Given the description of an element on the screen output the (x, y) to click on. 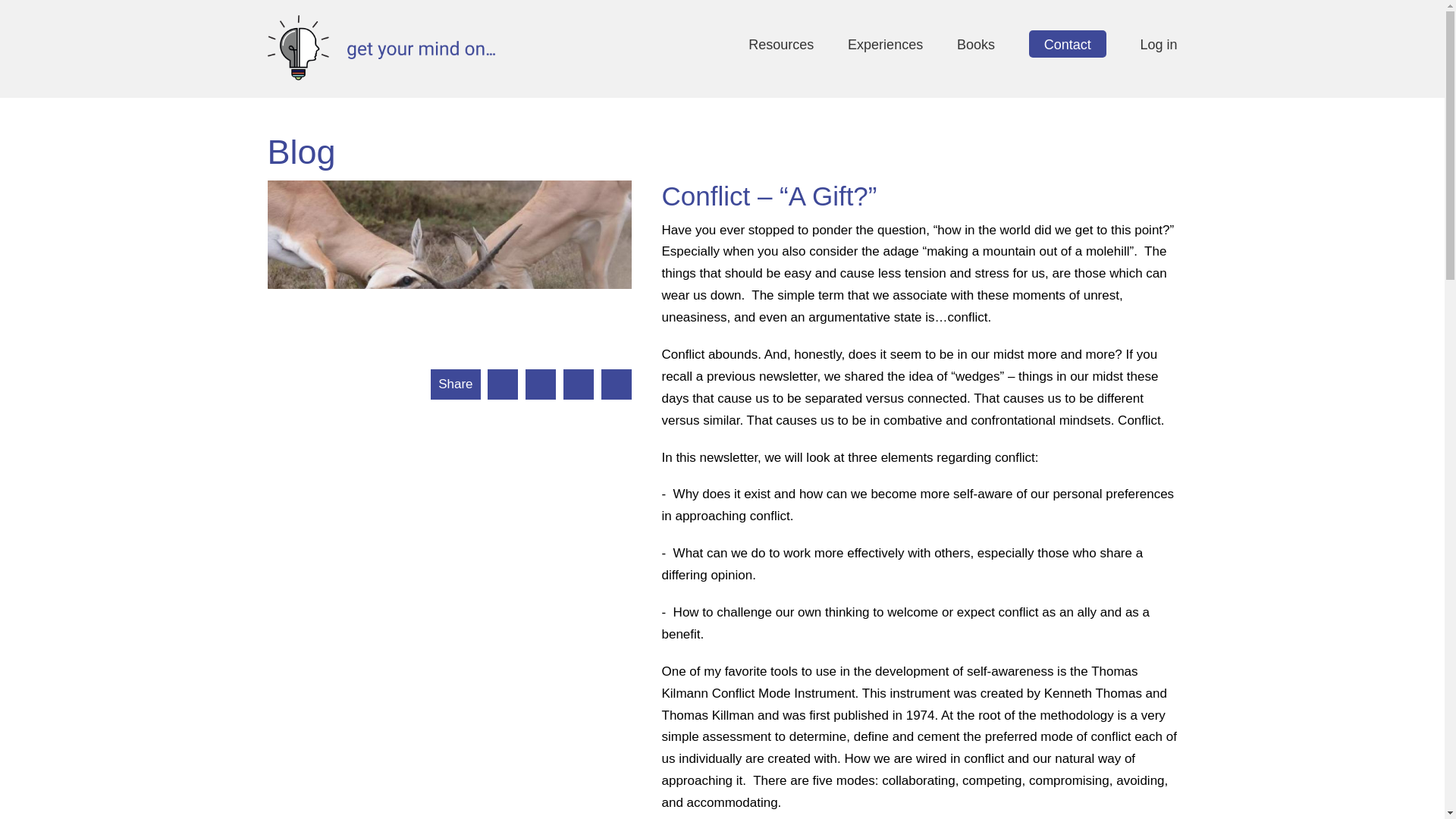
Resources (780, 44)
Facebook (540, 384)
Twitter (578, 384)
Experiences (885, 44)
Home (380, 75)
LinkedIn (614, 384)
Books (975, 44)
Log in (1158, 44)
Email (502, 384)
